Given the description of an element on the screen output the (x, y) to click on. 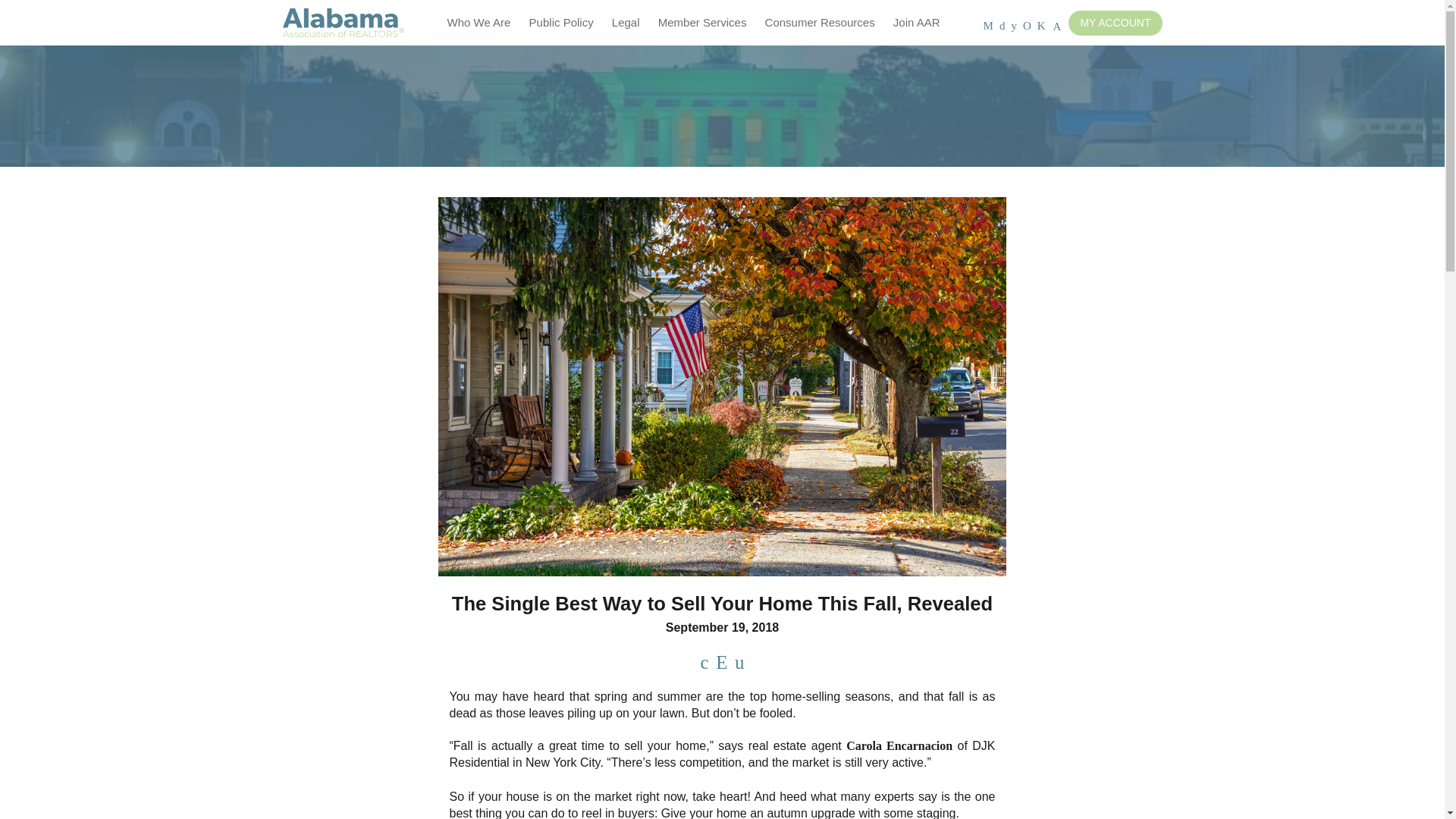
Consumer Resources (819, 22)
Who We Are (478, 22)
Alabama Association of REALTORS (342, 22)
MY ACCOUNT (1114, 23)
Consumer Resources (819, 22)
Public Policy (561, 22)
Legal (625, 22)
Member Services (702, 22)
Public Policy (561, 22)
Member Services (702, 22)
